Given the description of an element on the screen output the (x, y) to click on. 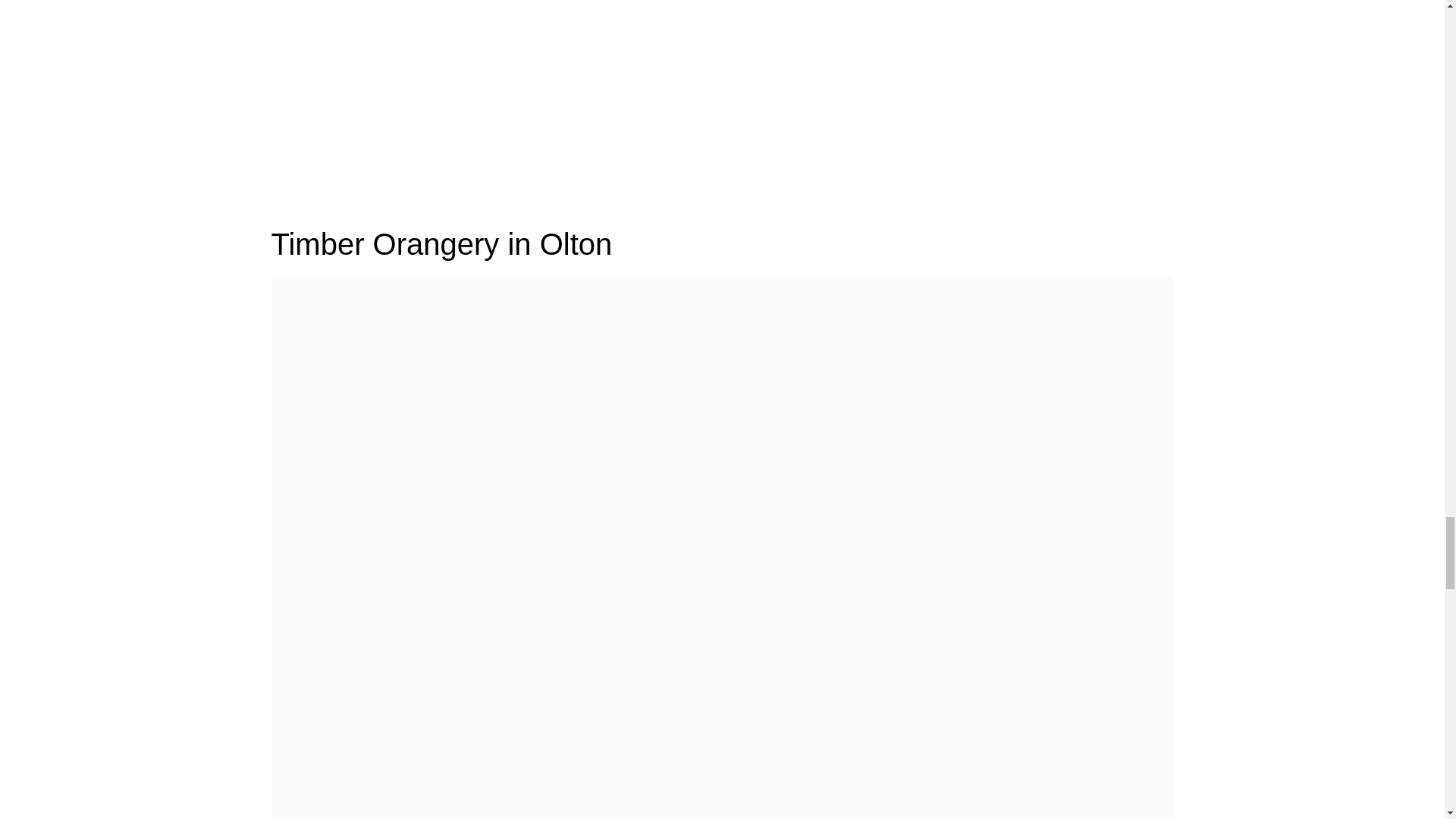
Timber Orangery in Olton (441, 244)
Timber Orangery in Olton (721, 612)
